Given the description of an element on the screen output the (x, y) to click on. 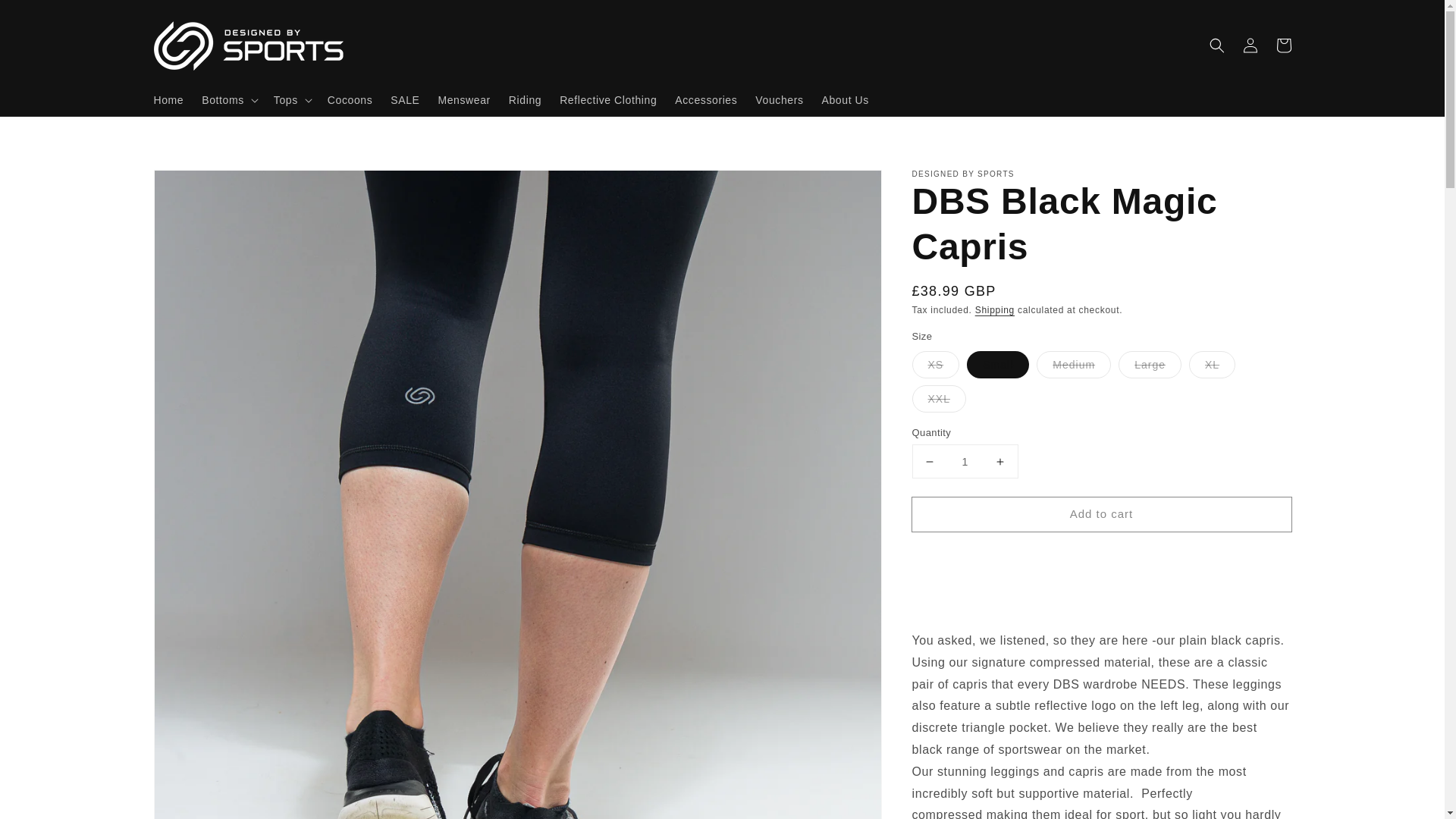
Menswear (463, 99)
Skip to content (45, 16)
1 (964, 461)
Home (168, 99)
SALE (404, 99)
